Given the description of an element on the screen output the (x, y) to click on. 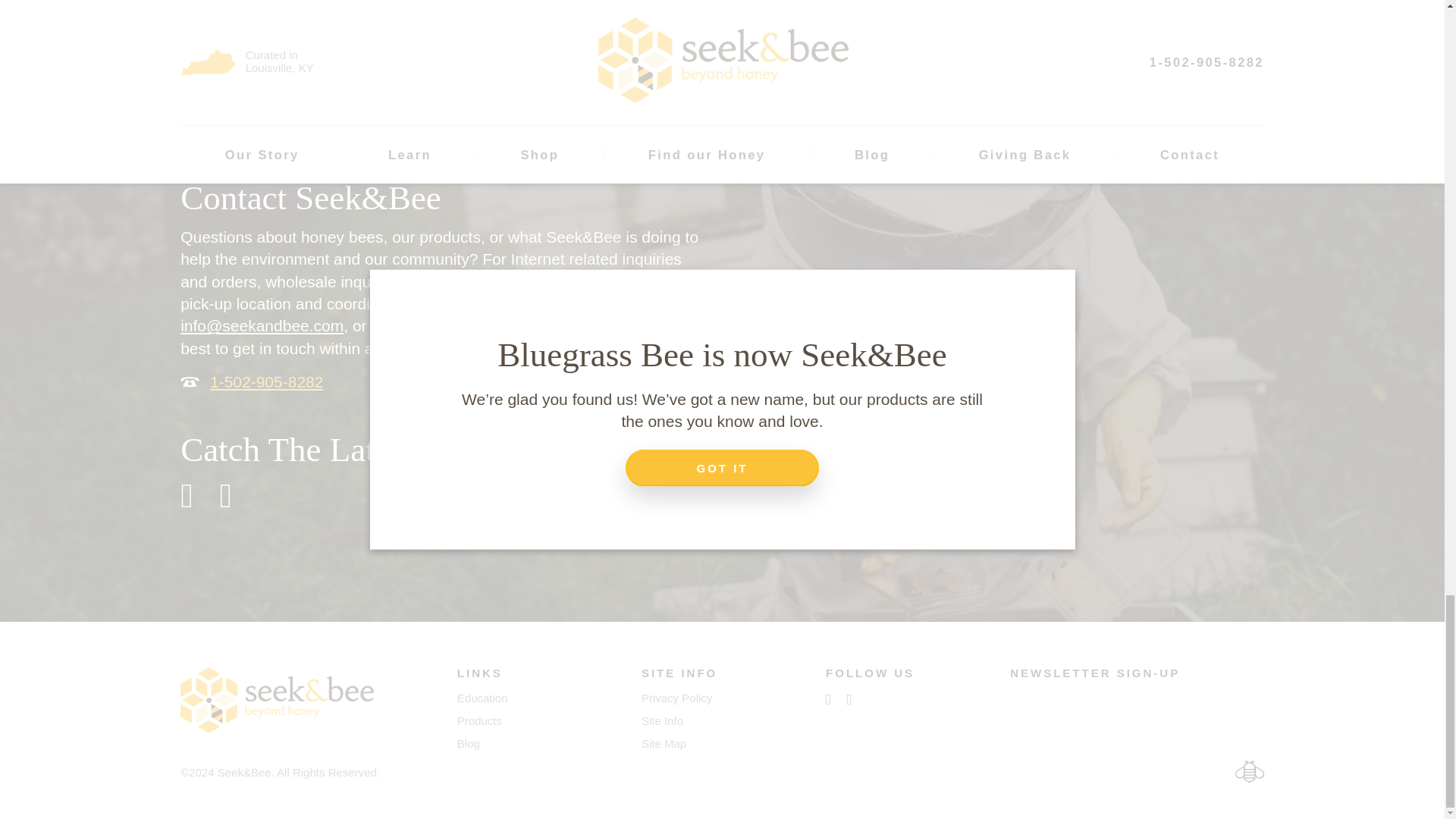
Site Info (662, 720)
Louisville Web Design (1248, 771)
1-502-905-8282 (266, 381)
Site Info (662, 720)
Products (479, 720)
Privacy Policy (676, 697)
Education (482, 697)
Products (479, 720)
Blog (468, 743)
Site Map (663, 743)
Education (468, 743)
